Given the description of an element on the screen output the (x, y) to click on. 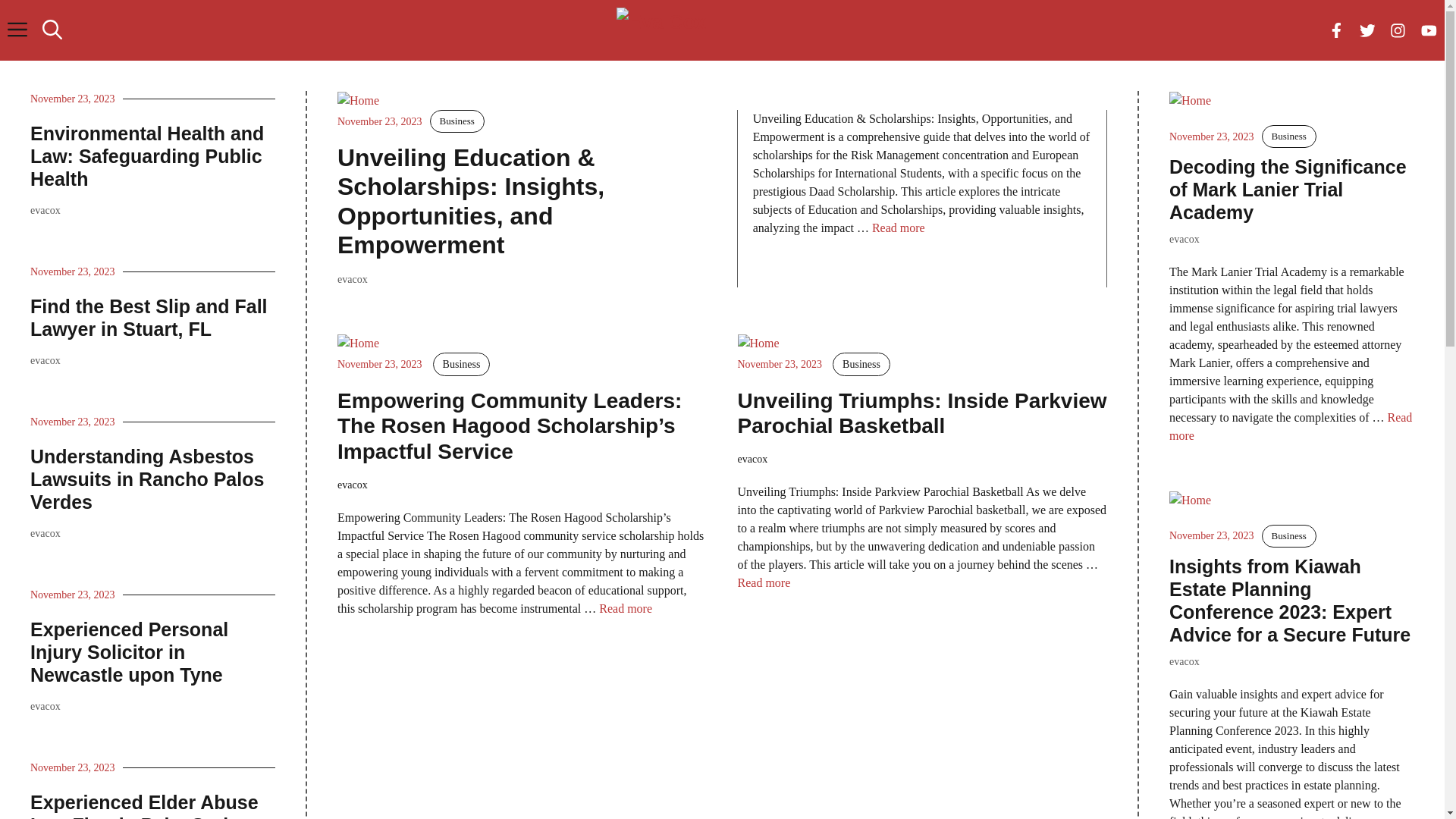
Business Element type: text (456, 120)
evacox Element type: text (1184, 661)
Find the Best Slip and Fall Lawyer in Stuart, FL Element type: text (148, 317)
Read more Element type: text (763, 582)
evacox Element type: text (352, 279)
Home - Element type: hover (358, 100)
Home - Element type: hover (358, 343)
Home - Element type: hover (757, 343)
evacox Element type: text (1184, 238)
Business Element type: text (1288, 136)
Eva Cox Element type: hover (729, 30)
Business Element type: text (461, 364)
Read more Element type: text (1290, 426)
evacox Element type: text (45, 210)
Home - Element type: hover (1190, 100)
Experienced Personal Injury Solicitor in Newcastle upon Tyne Element type: text (129, 651)
Business Element type: text (861, 364)
Read more Element type: text (898, 227)
Business Element type: text (1288, 535)
Understanding Asbestos Lawsuits in Rancho Palos Verdes Element type: text (146, 478)
Home - Element type: hover (1190, 500)
Read more Element type: text (625, 608)
Environmental Health and Law: Safeguarding Public Health Element type: text (146, 155)
evacox Element type: text (45, 360)
evacox Element type: text (45, 706)
Decoding the Significance of Mark Lanier Trial Academy Element type: text (1287, 189)
Unveiling Triumphs: Inside Parkview Parochial Basketball Element type: text (921, 413)
evacox Element type: text (45, 533)
